Given the description of an element on the screen output the (x, y) to click on. 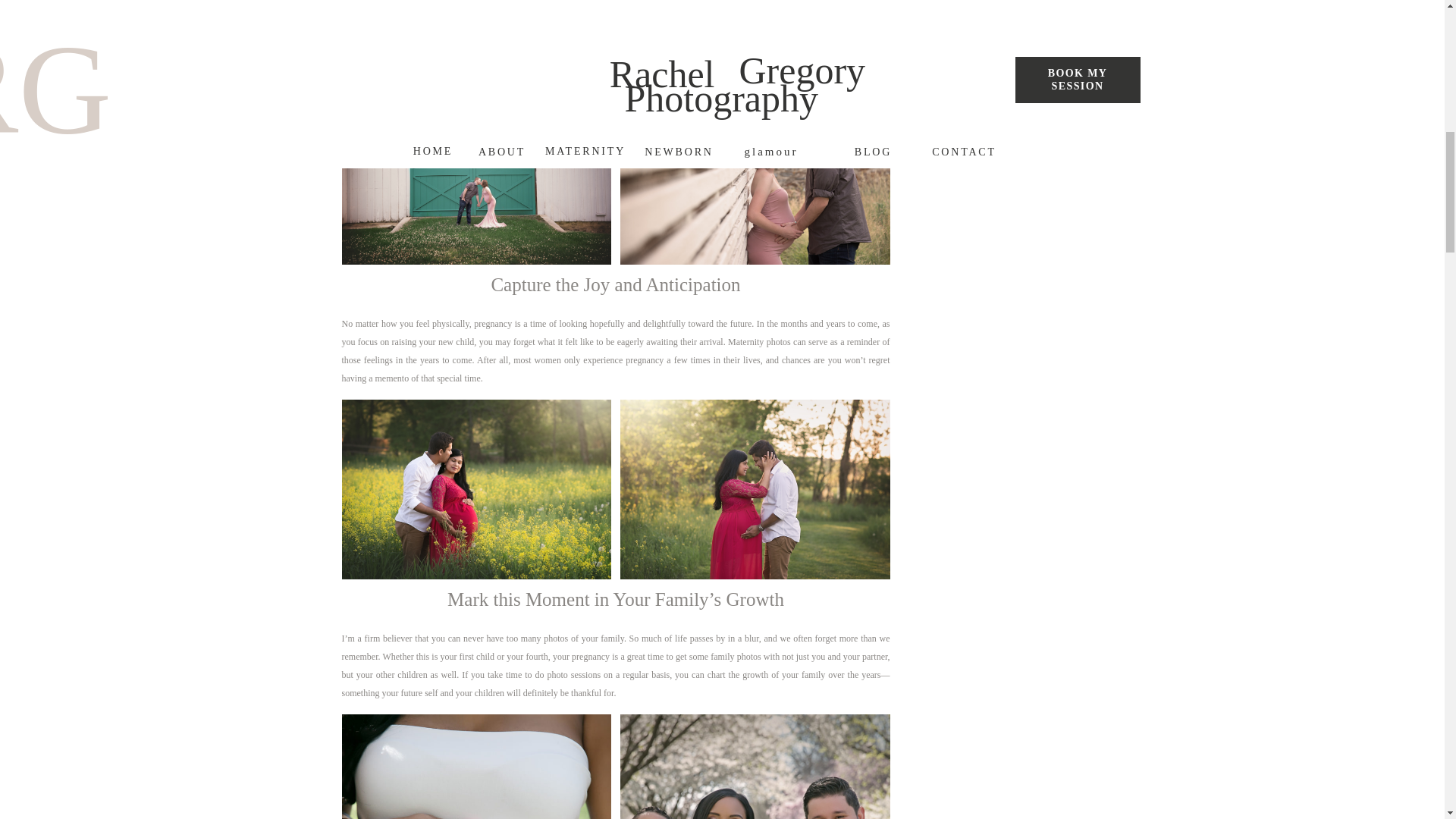
FAMILY (1016, 50)
MILESTONE (1114, 51)
